Given the description of an element on the screen output the (x, y) to click on. 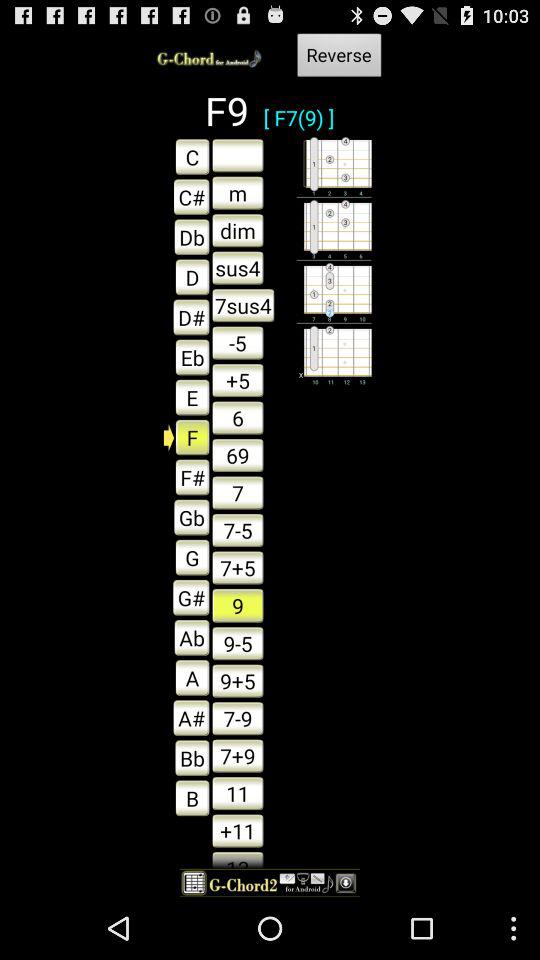
click on the letter f (187, 436)
click on the number 69 (238, 455)
click on the number sixty nine (238, 455)
click on the box which says 95 (238, 680)
click on the button having the text sus4 (238, 267)
click on the imge beside 7sus4 text (334, 291)
click on the button having the text ab (186, 637)
click on the button which is above the 75 (238, 492)
click on the button which is next to the c (238, 155)
click on the button which is next to the c (238, 155)
click on the button which is next to the c (238, 192)
click on the text c (186, 196)
click on d (187, 276)
